Given the description of an element on the screen output the (x, y) to click on. 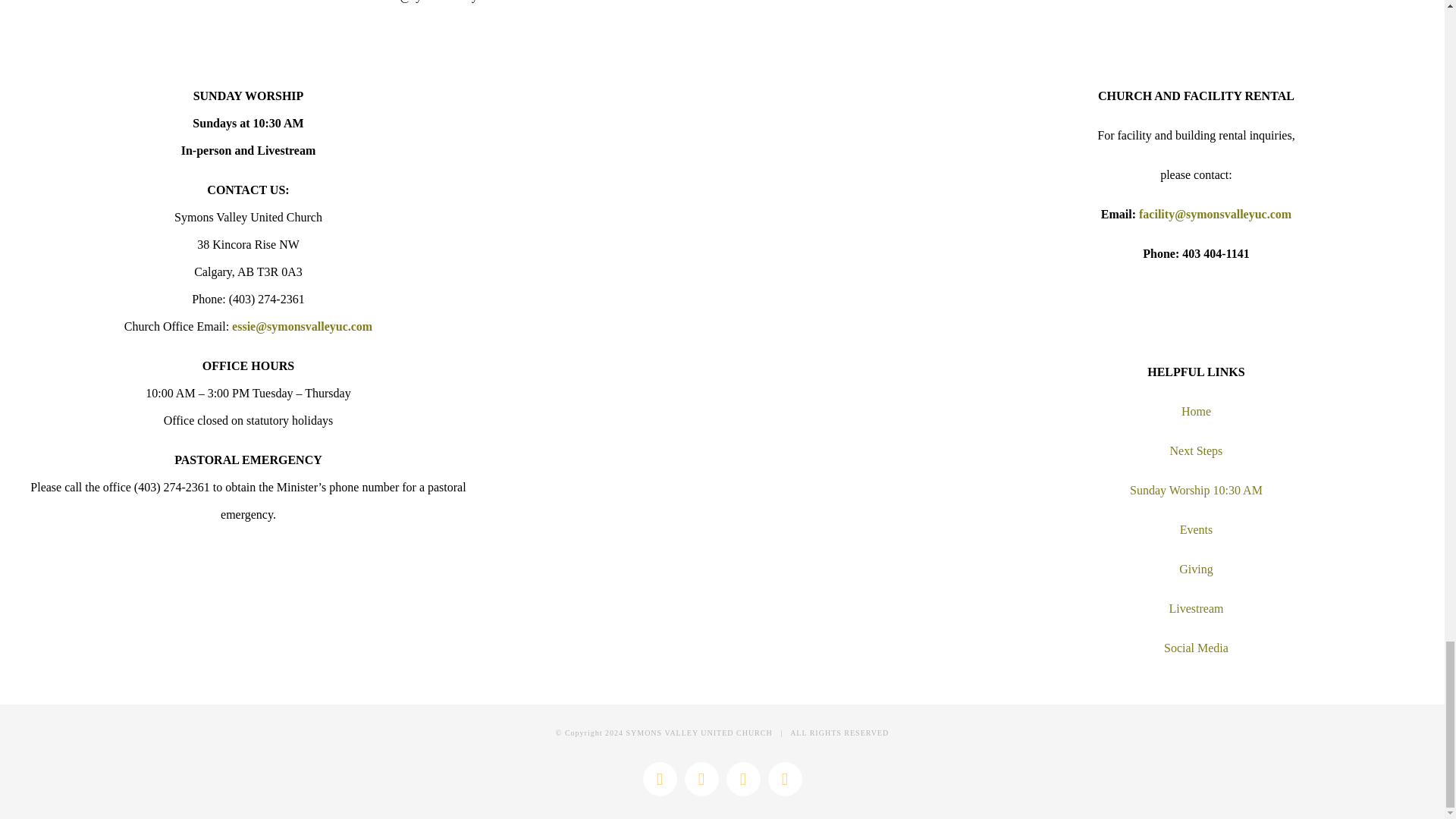
Instagram (743, 779)
Facebook (660, 779)
X (700, 779)
YouTube (784, 779)
